Given the description of an element on the screen output the (x, y) to click on. 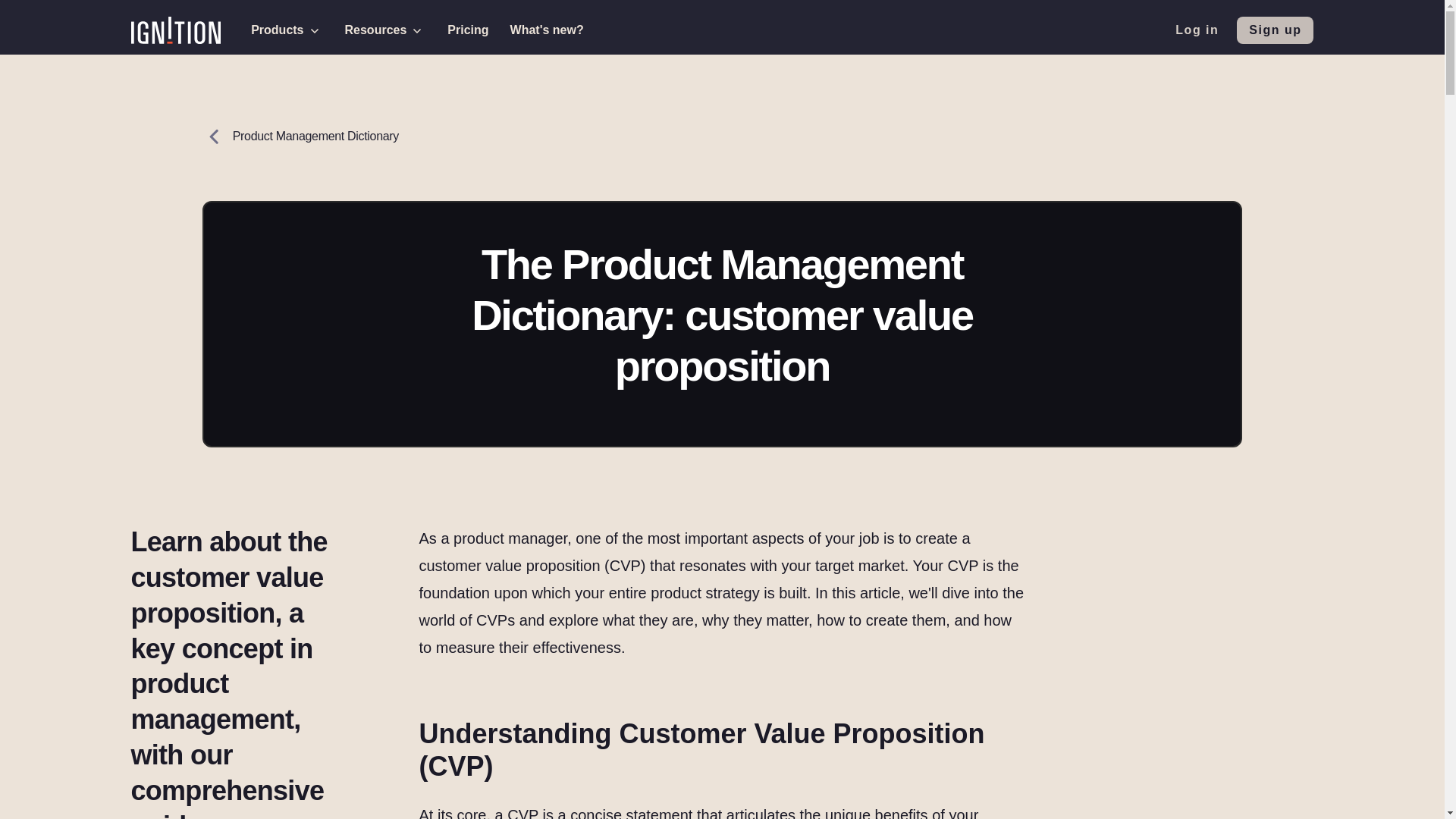
Sign up (1274, 30)
Log in (1196, 30)
Product Management Dictionary (300, 162)
Pricing (468, 30)
What's new? (546, 30)
